Given the description of an element on the screen output the (x, y) to click on. 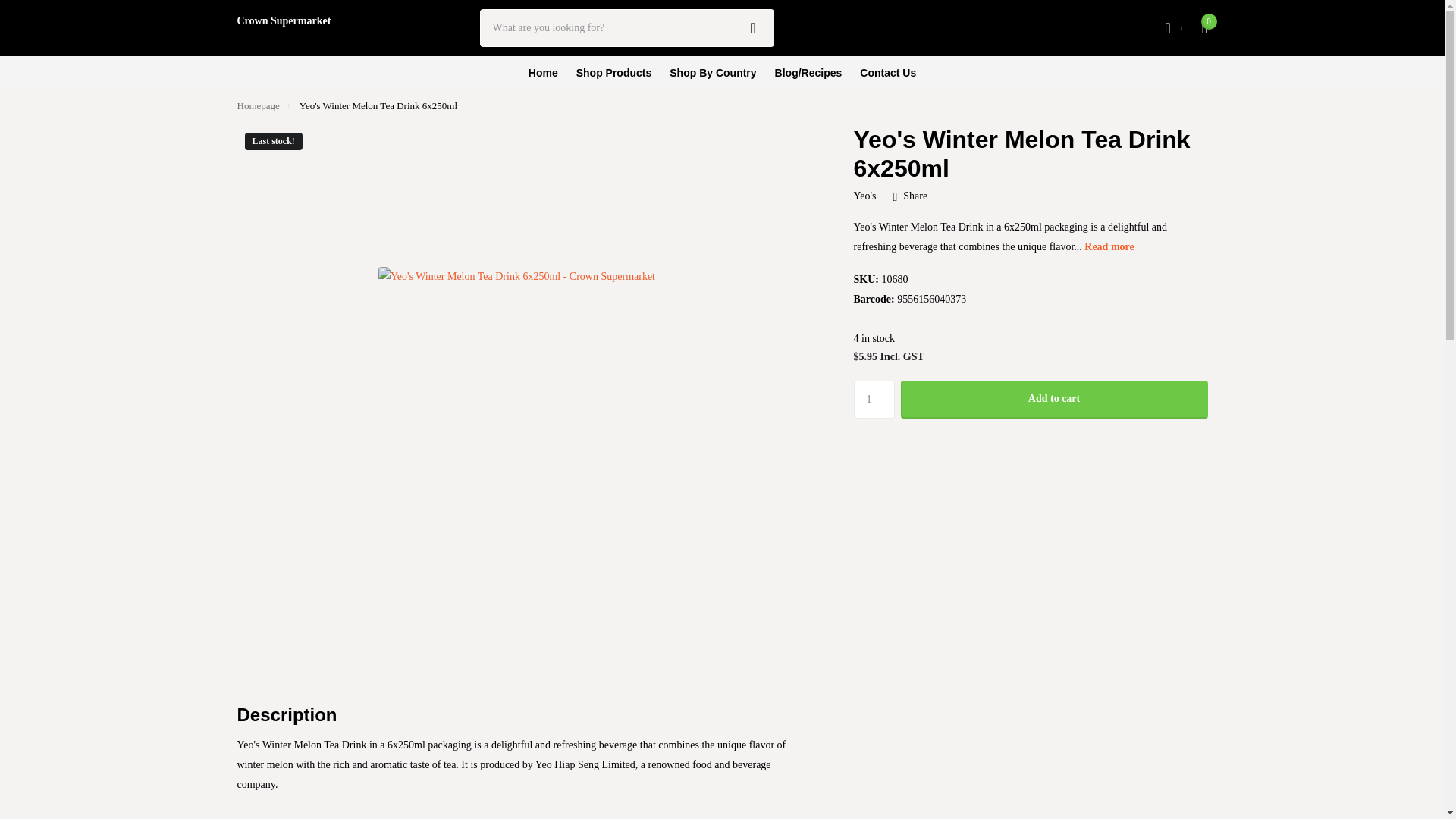
Zoeken (753, 27)
Shop By Country (712, 72)
Shop Products (614, 72)
1 (874, 399)
Home (257, 105)
